Given the description of an element on the screen output the (x, y) to click on. 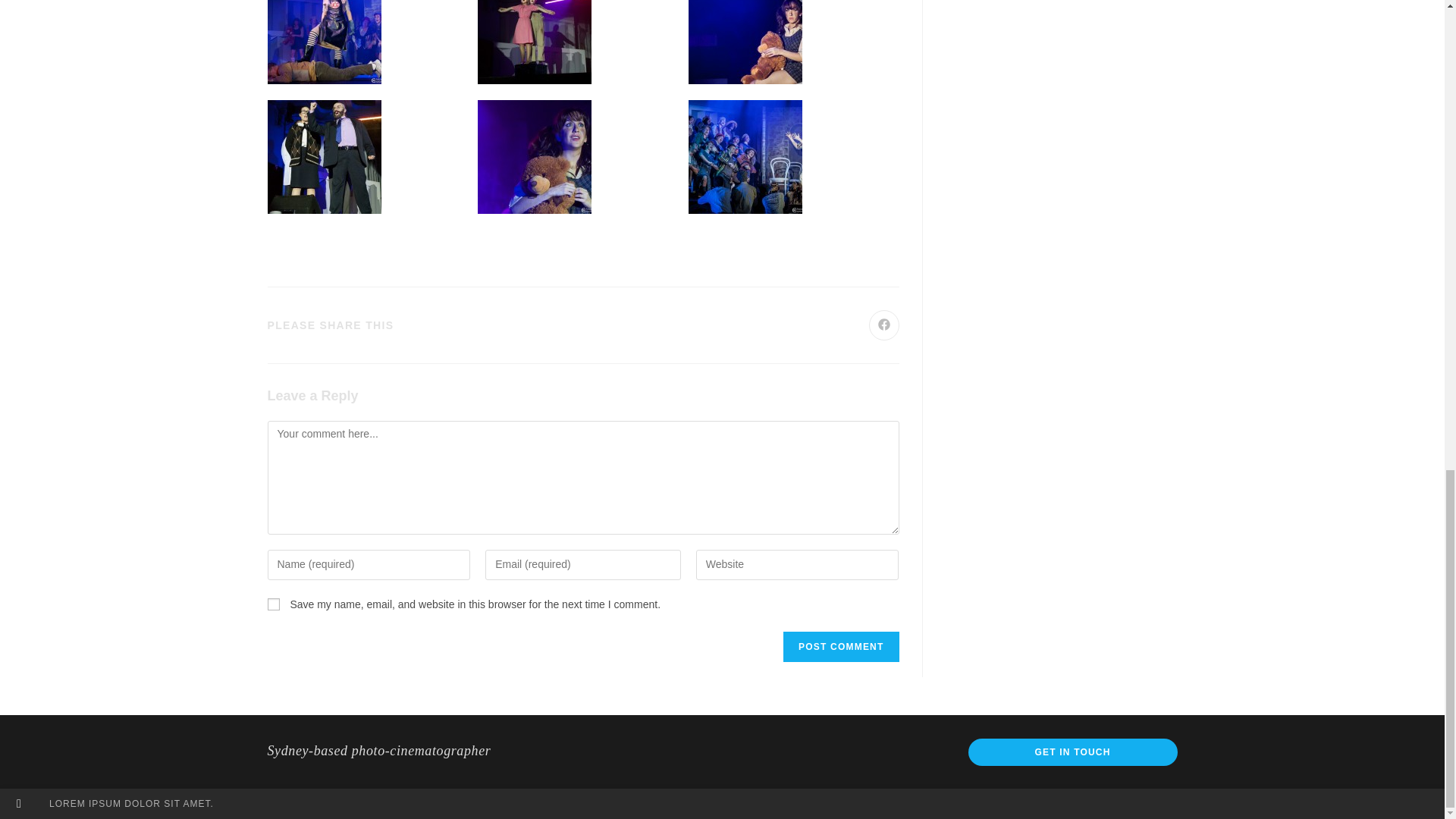
yes (272, 604)
Post Comment (840, 646)
